Given the description of an element on the screen output the (x, y) to click on. 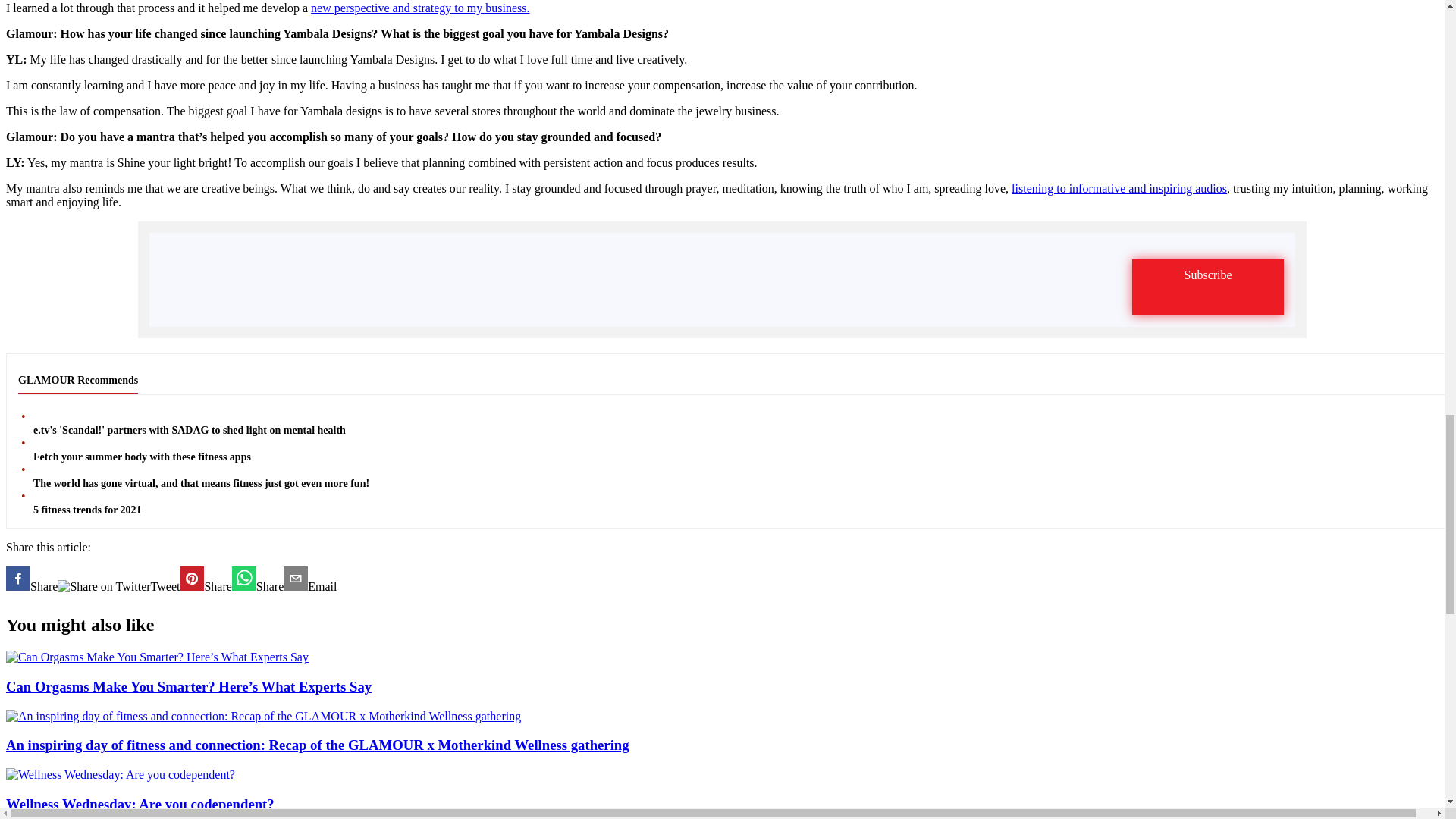
Share (257, 579)
Share (31, 579)
Wellness Wednesday: Are you codependent? (721, 790)
Share on Twitter (103, 586)
Email (309, 579)
listening to informative and inspiring audios (1119, 187)
